Given the description of an element on the screen output the (x, y) to click on. 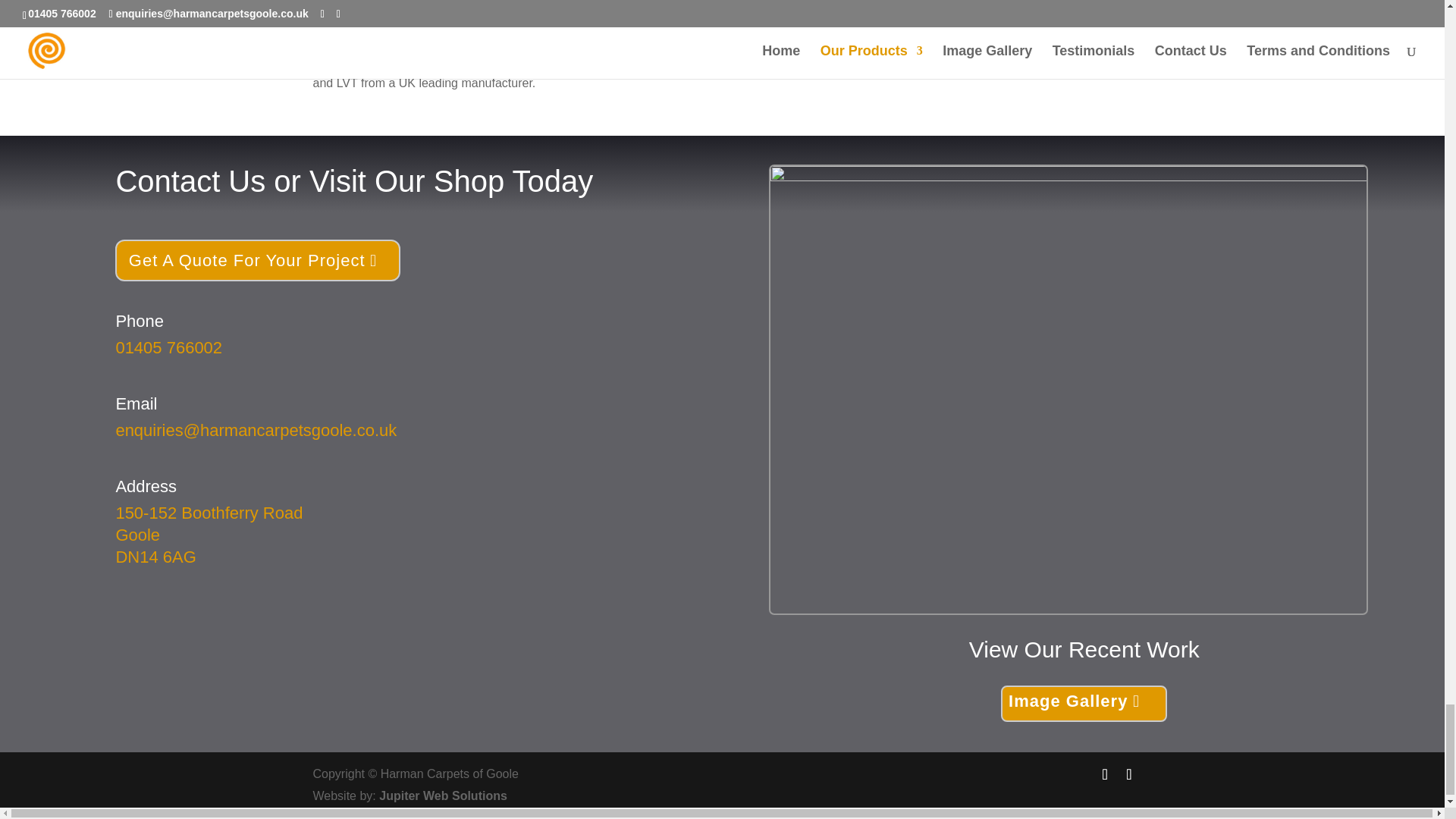
Get A Quote For Your Project (256, 260)
150-152 Boothferry Road (208, 512)
01405 766002 (168, 347)
